Given the description of an element on the screen output the (x, y) to click on. 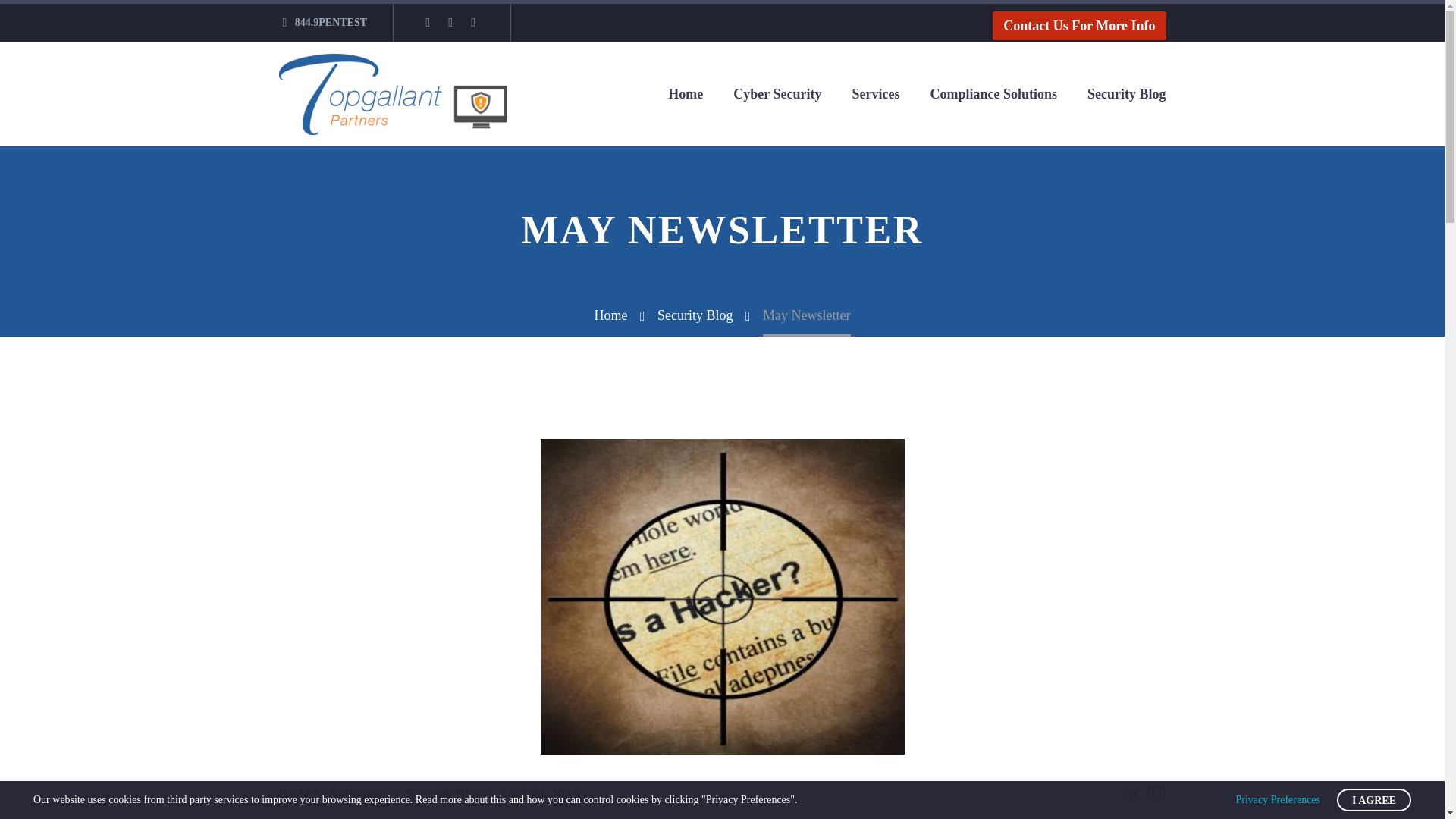
844.9PENTEST (330, 21)
Like this (1129, 793)
Home (684, 94)
Home (610, 314)
Cyber Security (776, 94)
Security Blog (445, 793)
Facebook (427, 22)
Security Blog (695, 314)
Twitter (472, 22)
Next post (1162, 793)
Previous post (1150, 793)
Services (874, 94)
Security Blog (1125, 94)
Contact Us For More Info (1079, 25)
Compliance Solutions (992, 94)
